Given the description of an element on the screen output the (x, y) to click on. 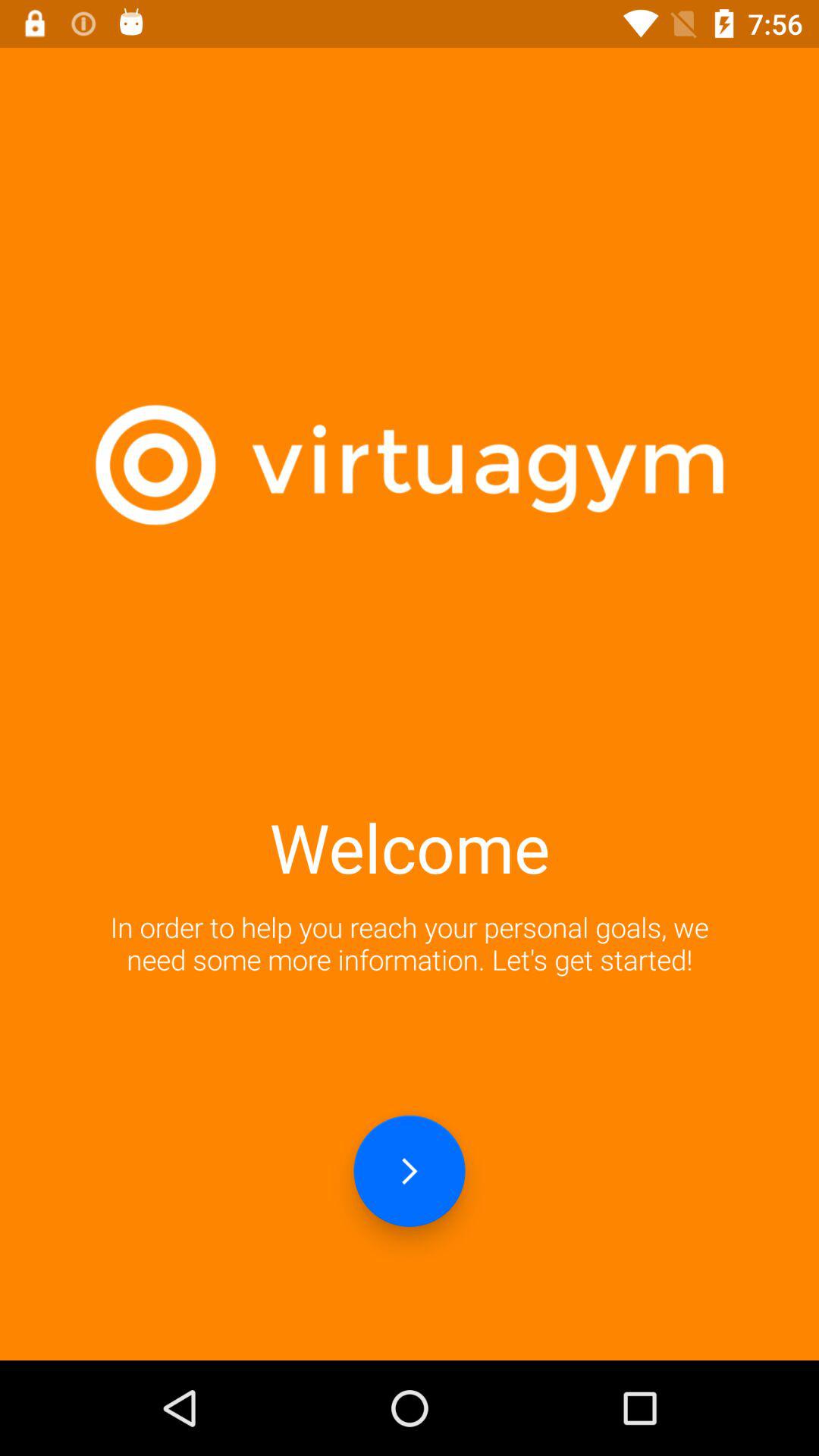
go to next (409, 1170)
